Given the description of an element on the screen output the (x, y) to click on. 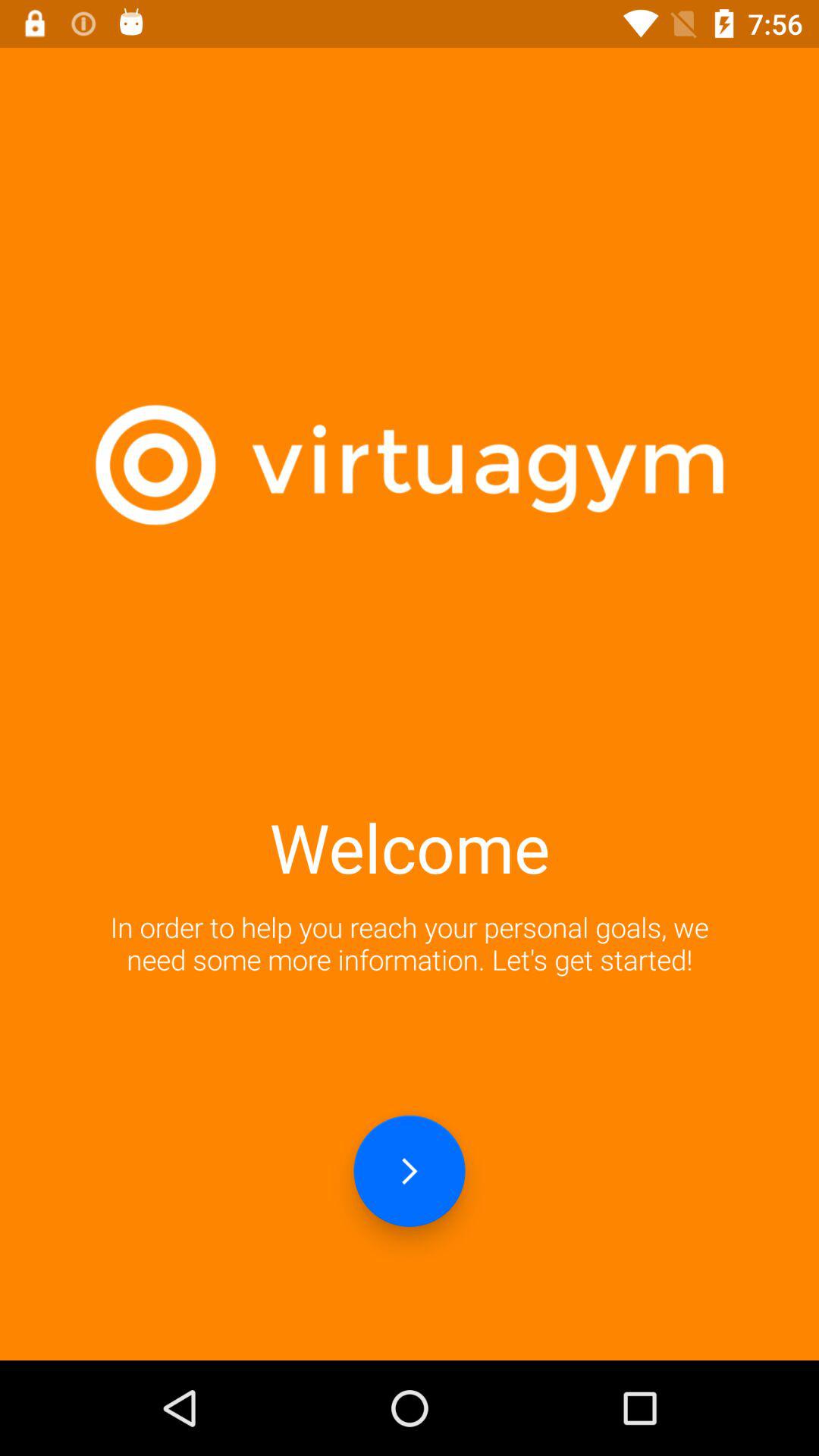
go to next (409, 1170)
